Given the description of an element on the screen output the (x, y) to click on. 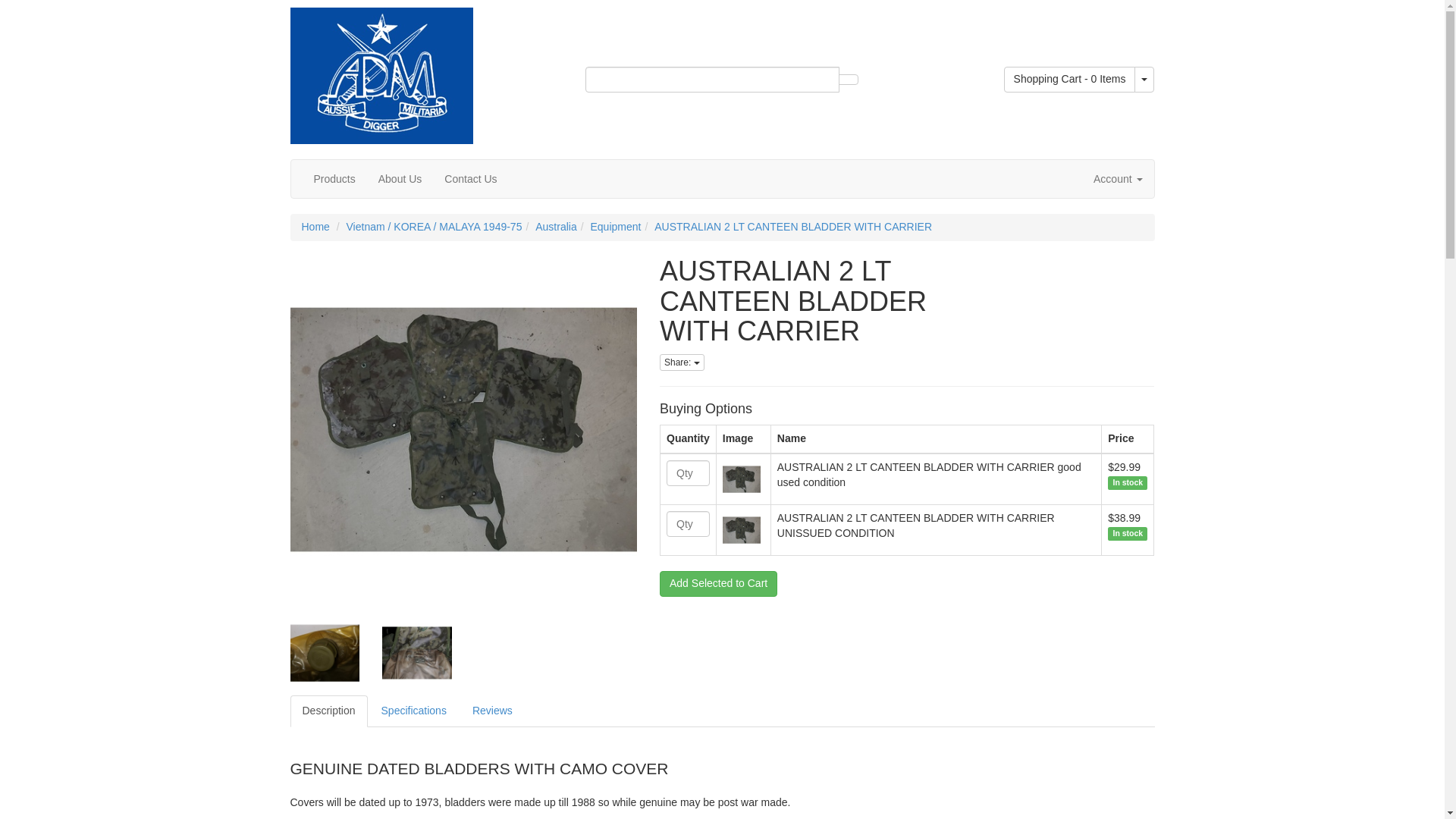
Description (327, 711)
About Us (399, 178)
Shopping Cart - 0 Items (1069, 79)
Large View (324, 652)
Specifications (413, 711)
Home (315, 226)
Reviews (492, 711)
Australia (555, 226)
AUSTRALIAN 2 LT CANTEEN BLADDER WITH CARRIER (792, 226)
Equipment (614, 226)
Contact Us (470, 178)
Aussie Digger Militaria (380, 70)
Products (333, 178)
Large View (416, 652)
 Account (1117, 178)
